Given the description of an element on the screen output the (x, y) to click on. 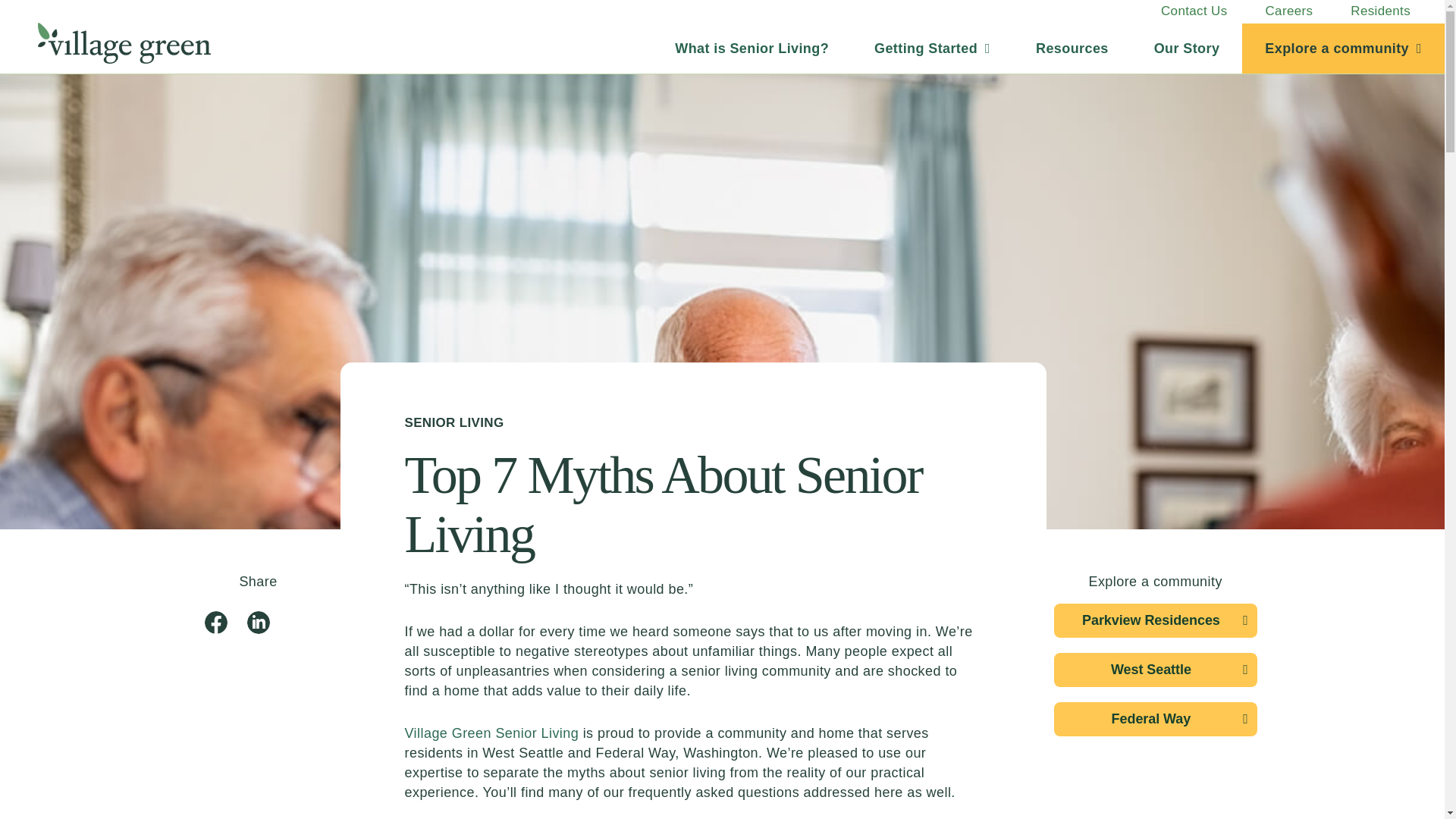
Contact Us (1193, 11)
About Village Green Senior Living (1187, 48)
Careers (1289, 11)
Contact Village Green Senior Living (1193, 11)
What is Senior Living? (751, 48)
Residents (1380, 11)
Village Green Senior Living Resident Portal (1380, 11)
Village Green Senior Living Options (751, 48)
Resources (1072, 48)
Our Story (1187, 48)
